Given the description of an element on the screen output the (x, y) to click on. 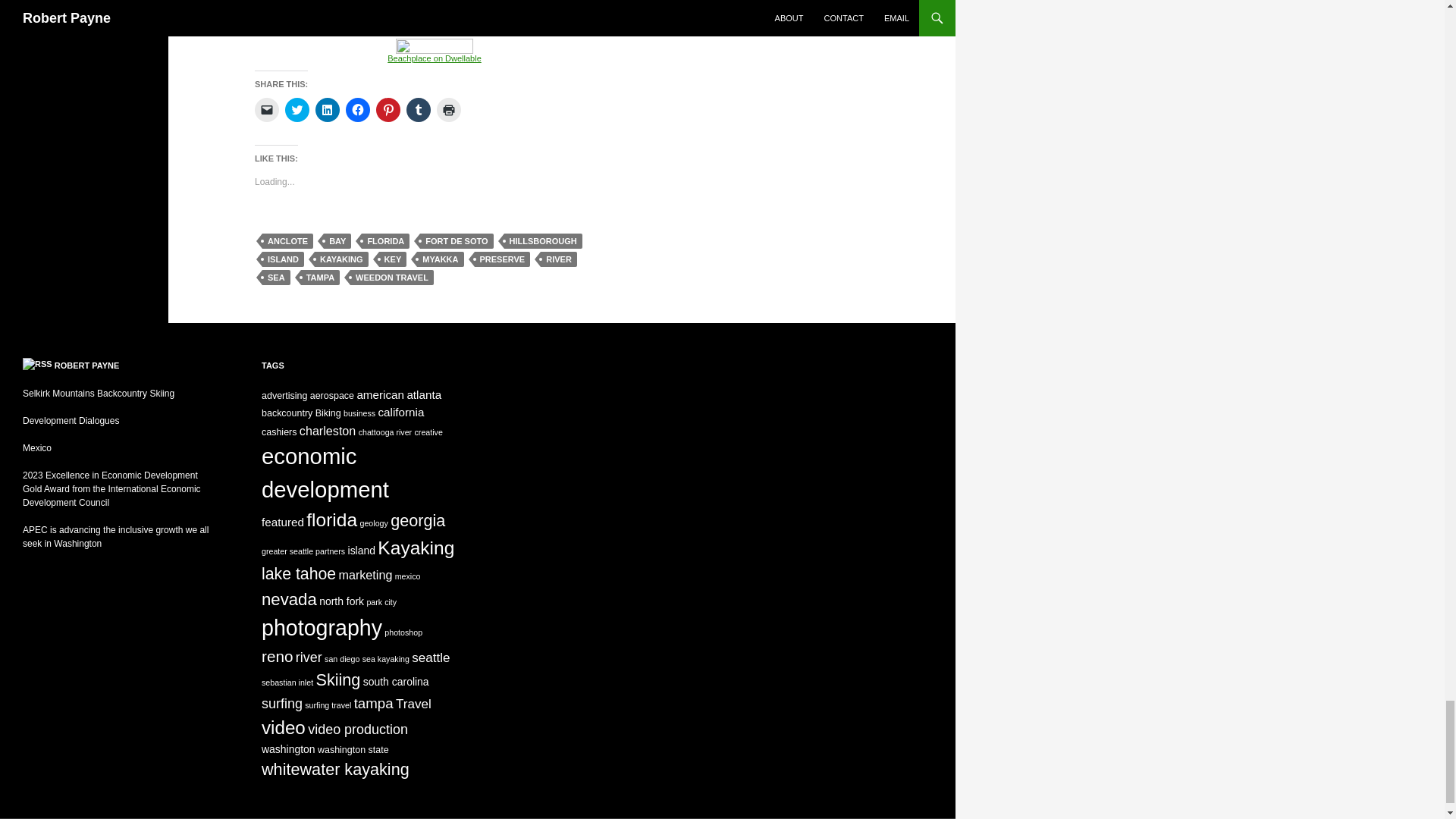
Click to share on Pinterest (387, 109)
Click to share on Facebook (357, 109)
tampa (437, 21)
Beachplace on Dwellable (434, 51)
Click to share on LinkedIn (327, 109)
Click to email a link to a friend (266, 109)
bay (466, 21)
kayaking (392, 21)
florida (496, 21)
Click to share on Twitter (296, 109)
